Given the description of an element on the screen output the (x, y) to click on. 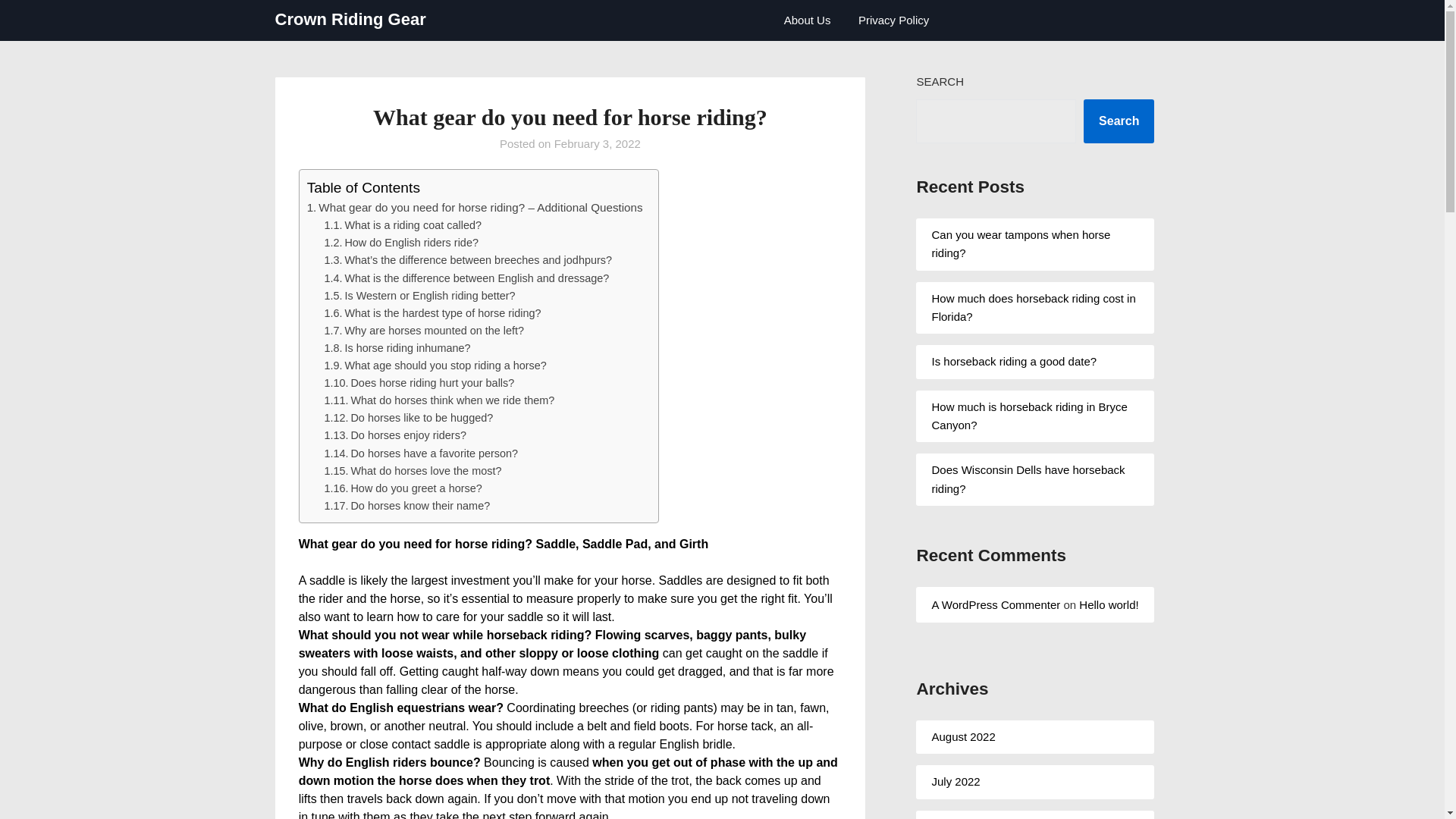
How much does horseback riding cost in Florida? (1033, 306)
What is a riding coat called? (412, 224)
Does horse riding hurt your balls? (431, 382)
What do horses think when we ride them? (452, 399)
What do horses think when we ride them? (452, 399)
Does Wisconsin Dells have horseback riding? (1027, 478)
Is Western or English riding better? (429, 295)
Is horse riding inhumane? (406, 347)
August 2022 (962, 736)
Why are horses mounted on the left? (433, 330)
